Given the description of an element on the screen output the (x, y) to click on. 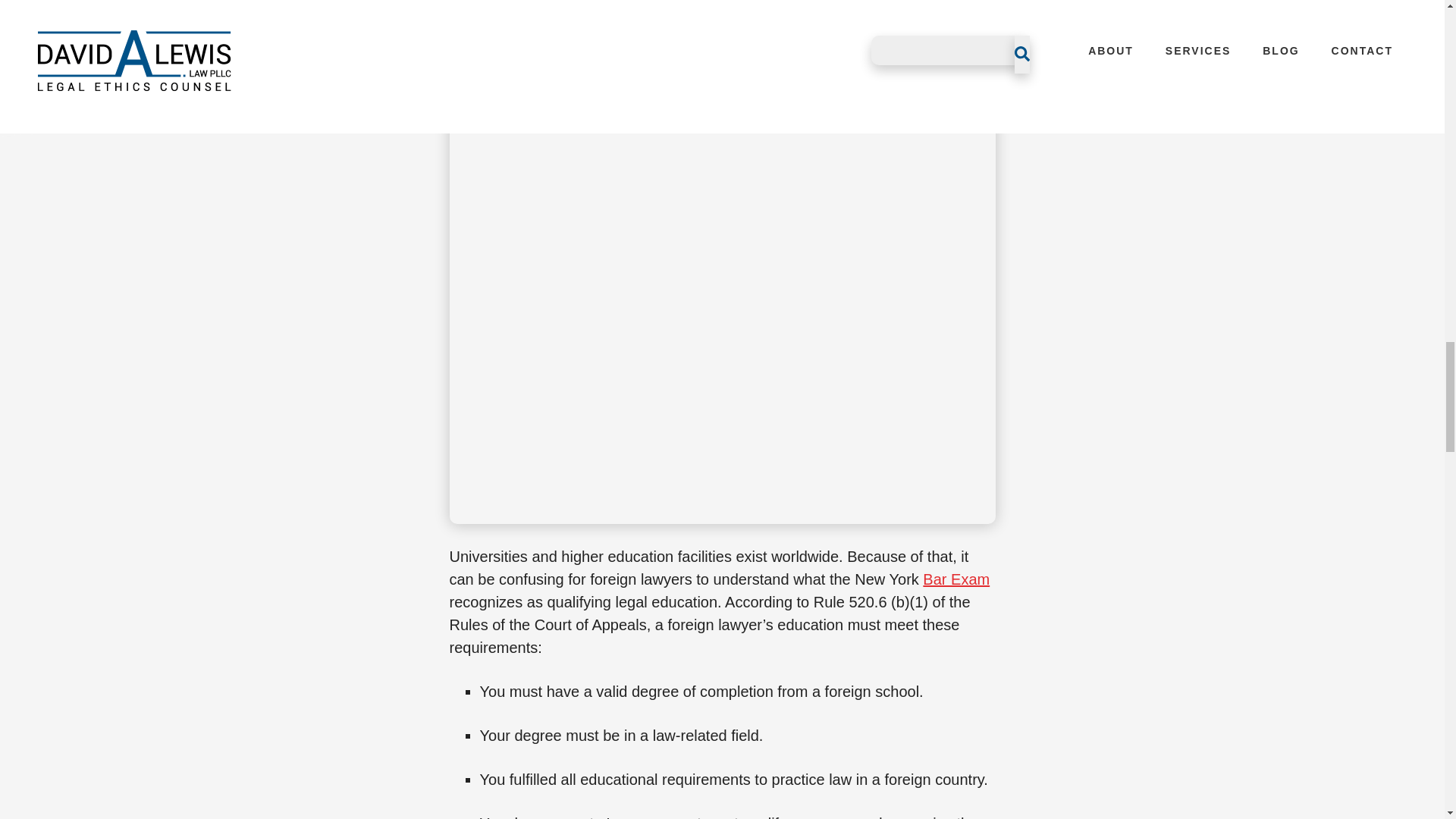
Bar Exam (956, 579)
